Given the description of an element on the screen output the (x, y) to click on. 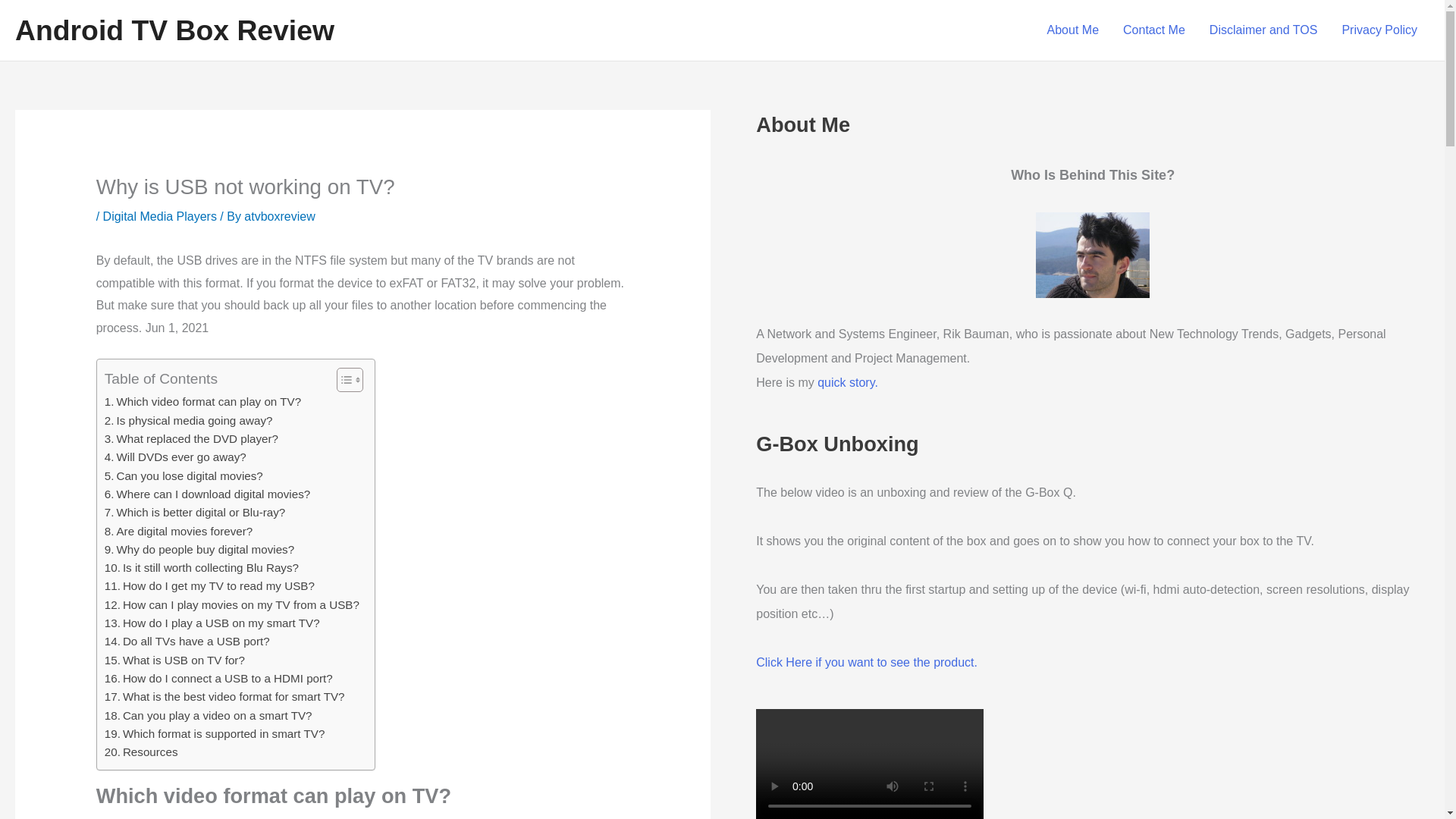
Is it still worth collecting Blu Rays? (201, 567)
How can I play movies on my TV from a USB? (231, 605)
Are digital movies forever? (178, 530)
Which is better digital or Blu-ray? (194, 512)
Disclaimer and TOS (1263, 30)
What is USB on TV for? (174, 660)
Can you lose digital movies? (183, 475)
What replaced the DVD player? (191, 438)
How do I get my TV to read my USB? (209, 586)
Do all TVs have a USB port? (186, 641)
